Given the description of an element on the screen output the (x, y) to click on. 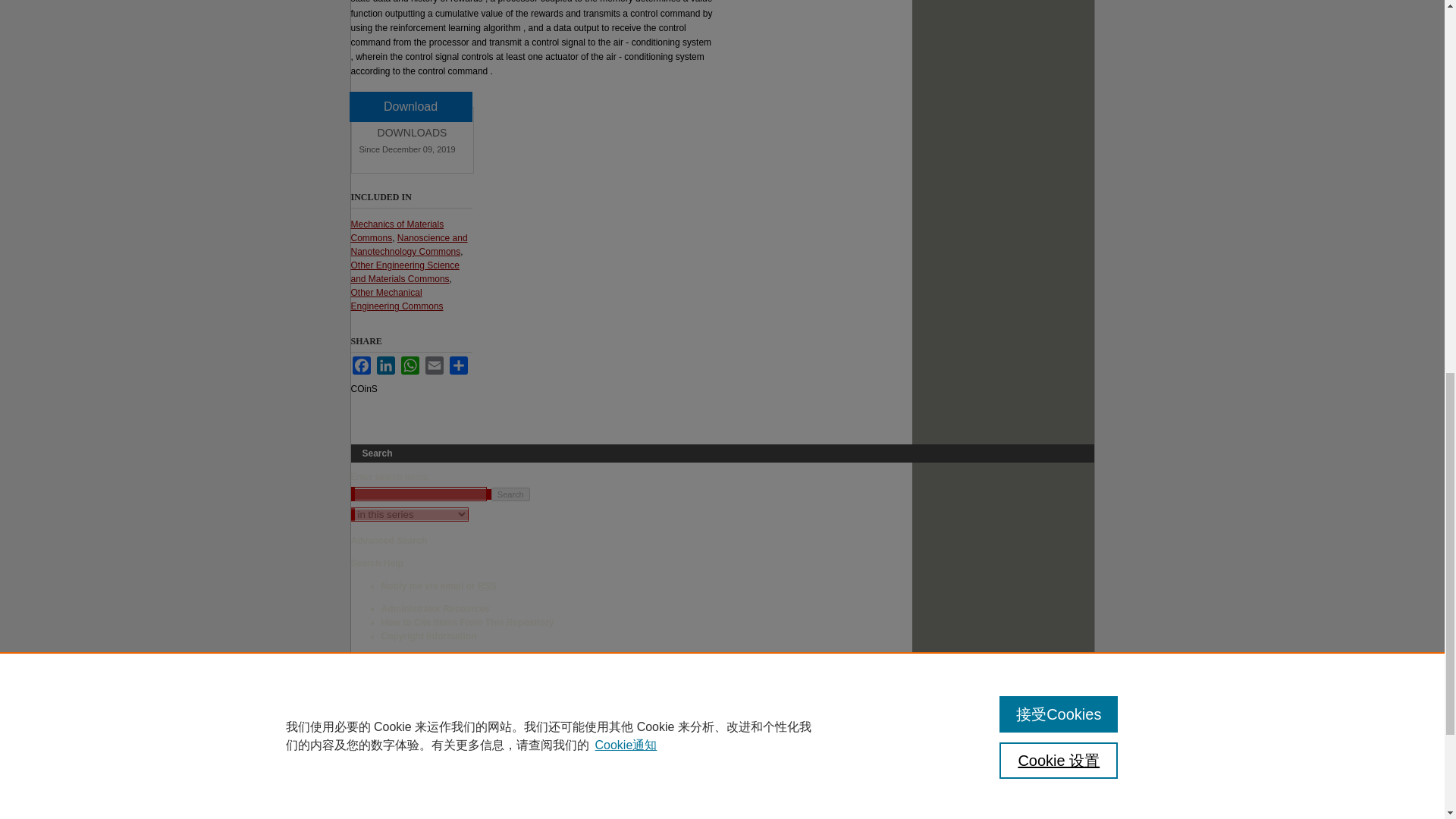
Search Help (376, 562)
Other Mechanical Engineering Commons (396, 299)
Search (510, 494)
LinkedIn (385, 365)
Advanced Search (388, 540)
Other Engineering Science and Materials Commons (404, 272)
Mechanics of Materials Commons (397, 231)
Search (510, 494)
Nanoscience and Nanotechnology Commons (408, 244)
Email (433, 365)
Facebook (360, 365)
Other Mechanical Engineering Commons (396, 299)
Nanoscience and Nanotechnology Commons (408, 244)
WhatsApp (409, 365)
Mechanics of Materials Commons (397, 231)
